Given the description of an element on the screen output the (x, y) to click on. 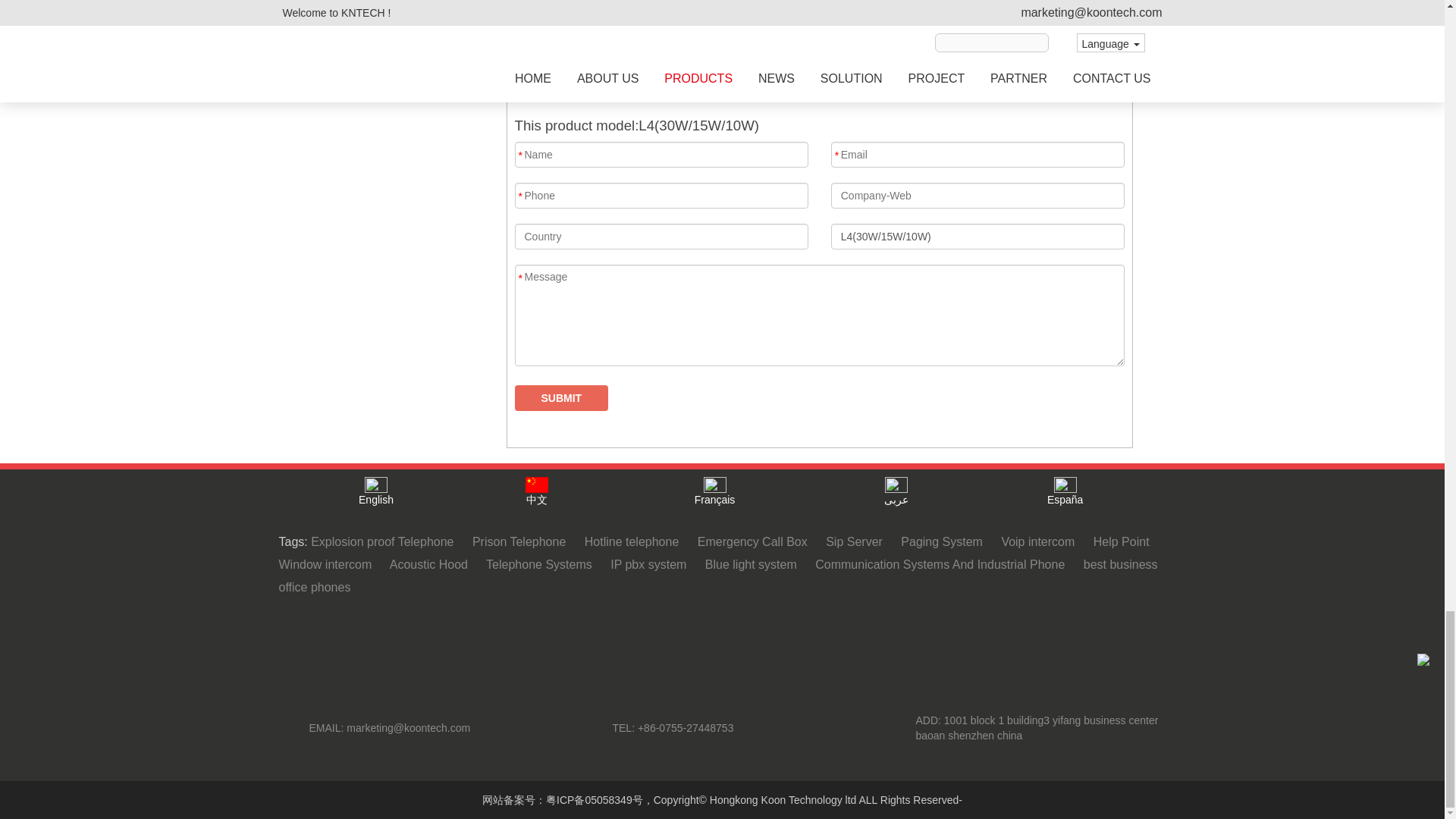
SUBMIT (560, 397)
youtube (629, 635)
Facebook (676, 635)
Twitter (768, 635)
Linkedin (814, 635)
